Given the description of an element on the screen output the (x, y) to click on. 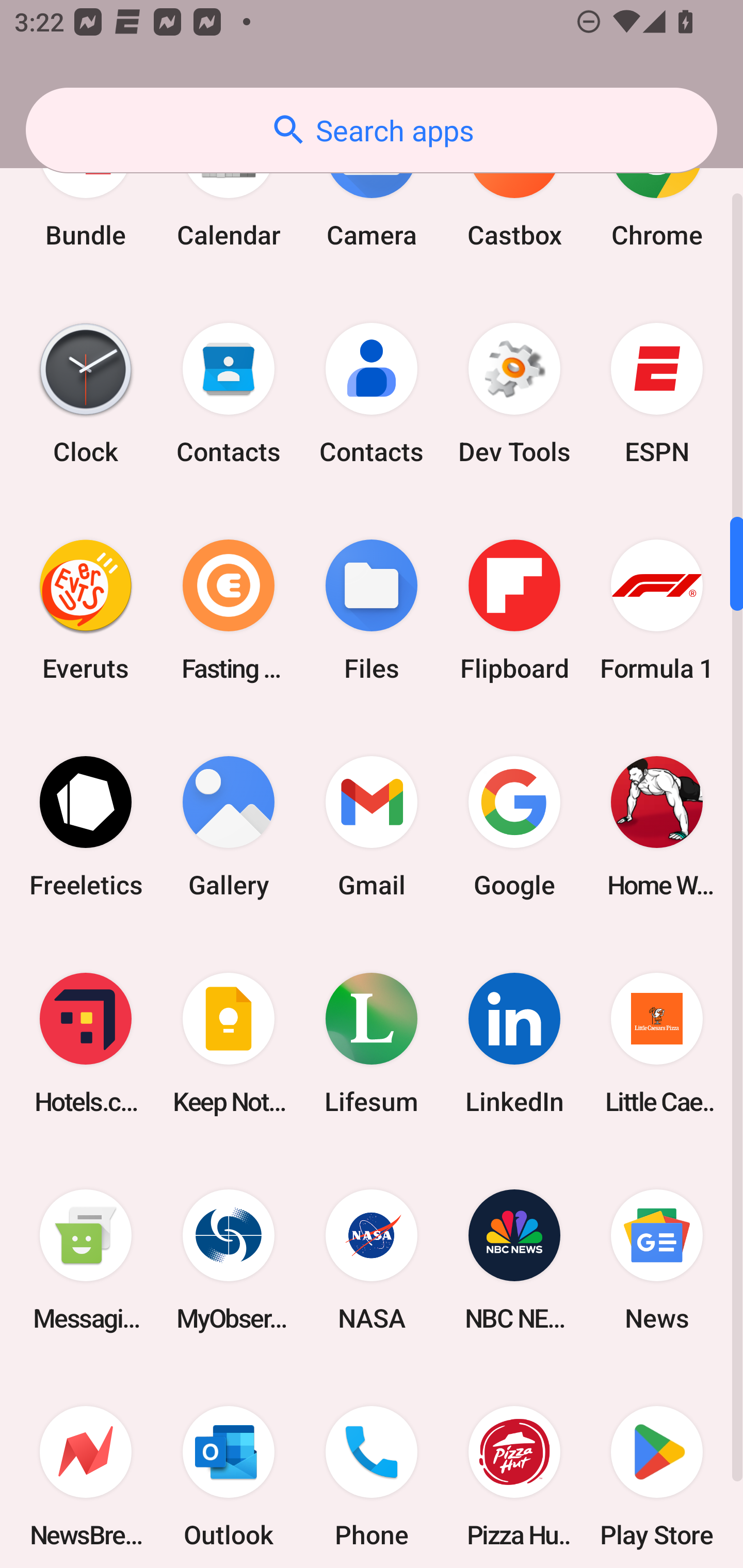
  Search apps (371, 130)
Clock (85, 393)
Contacts (228, 393)
Contacts (371, 393)
Dev Tools (514, 393)
ESPN (656, 393)
Everuts (85, 609)
Fasting Coach (228, 609)
Files (371, 609)
Flipboard (514, 609)
Formula 1 (656, 609)
Freeletics (85, 826)
Gallery (228, 826)
Gmail (371, 826)
Google (514, 826)
Home Workout (656, 826)
Hotels.com (85, 1043)
Keep Notes (228, 1043)
Lifesum (371, 1043)
LinkedIn (514, 1043)
Little Caesars Pizza (656, 1043)
Messaging (85, 1260)
MyObservatory (228, 1260)
NASA (371, 1260)
NBC NEWS (514, 1260)
News (656, 1260)
NewsBreak (85, 1468)
Outlook (228, 1468)
Phone (371, 1468)
Pizza Hut HK & Macau (514, 1468)
Play Store (656, 1468)
